Given the description of an element on the screen output the (x, y) to click on. 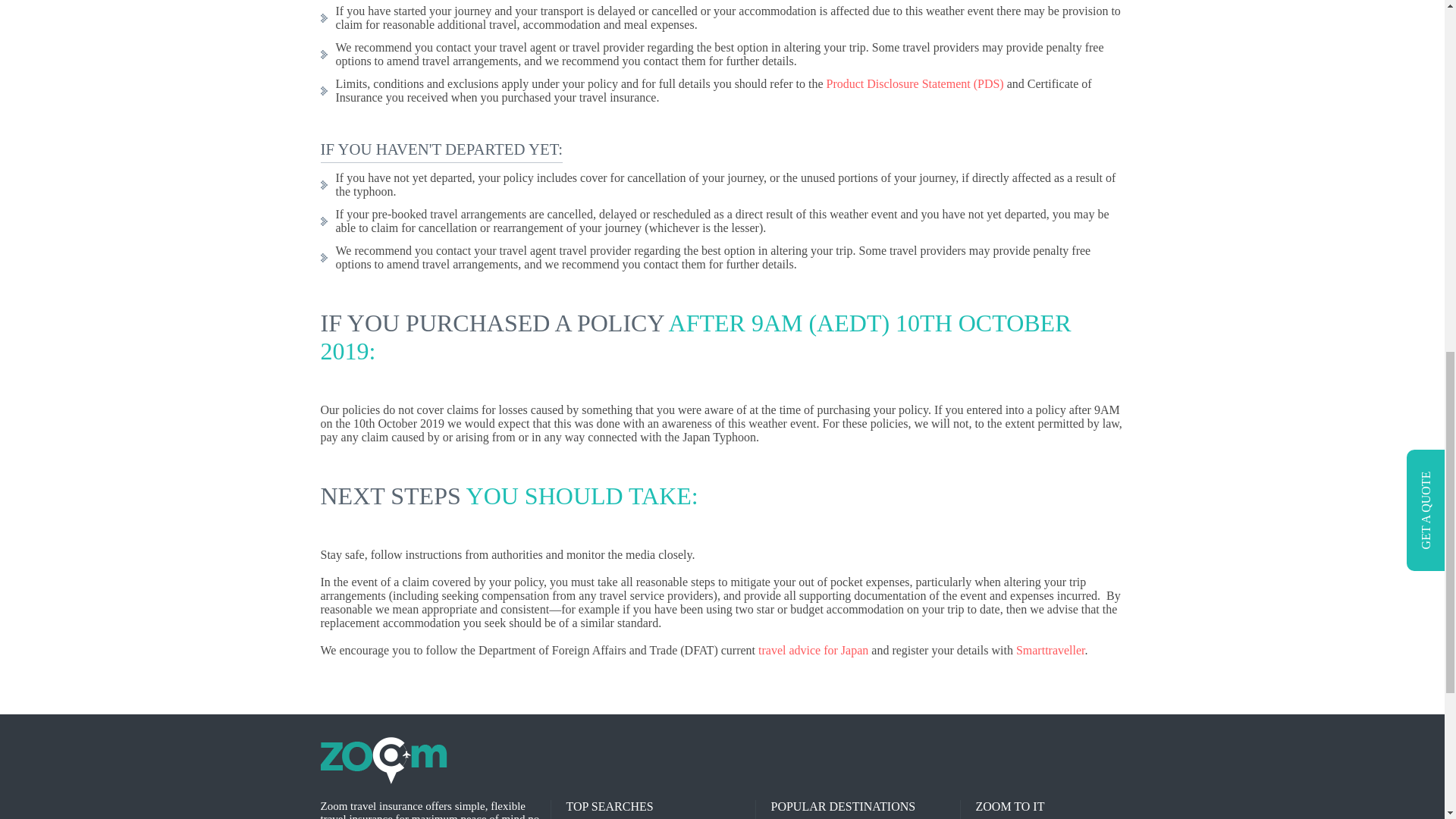
Japan (854, 649)
travel advice for (799, 649)
Smarttraveller (1050, 649)
